Given the description of an element on the screen output the (x, y) to click on. 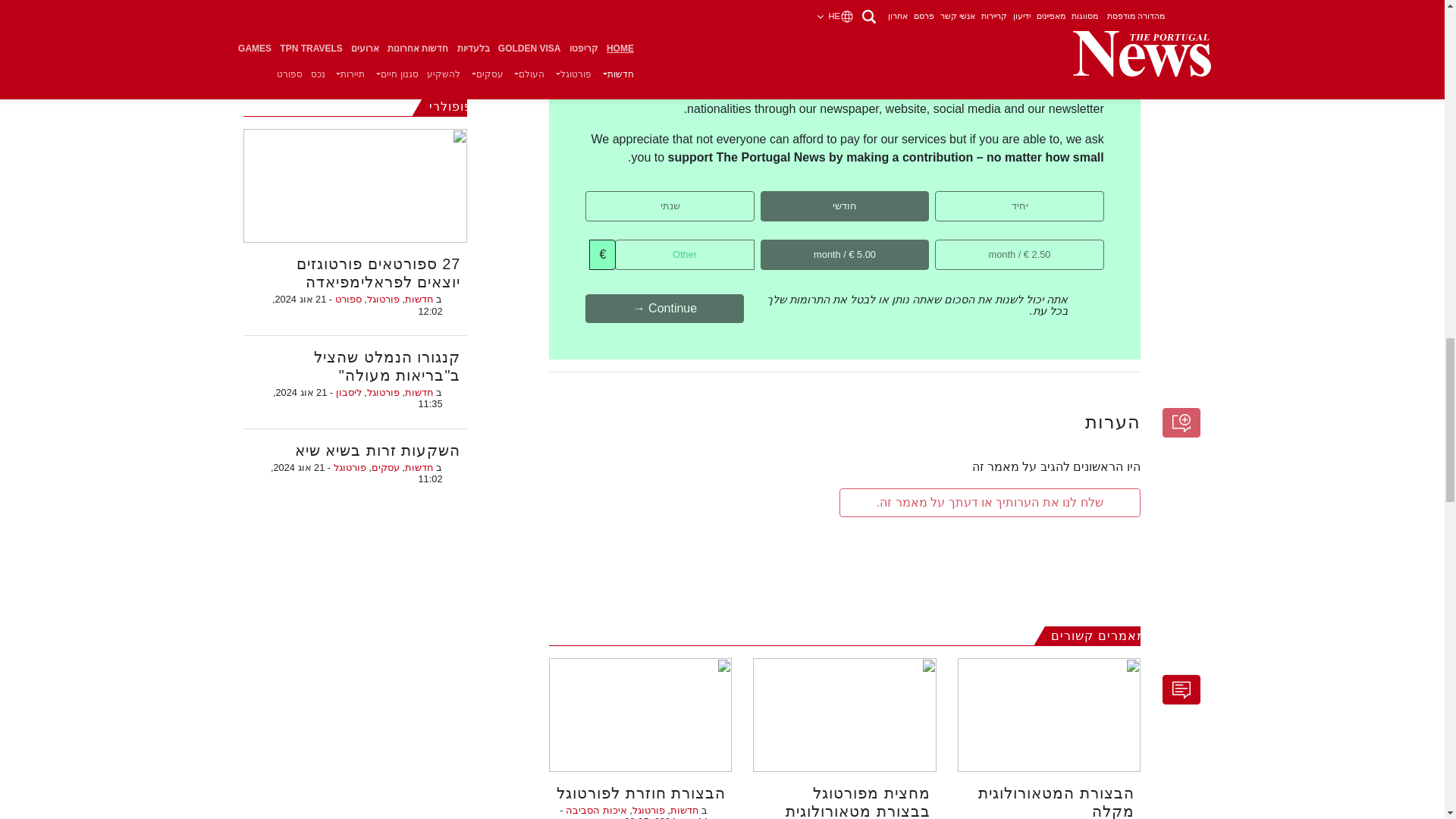
single (1098, 195)
5 (923, 244)
2.5 (1098, 244)
P-18662245734186221MGVD6SI (749, 195)
P-6T2758016F920900CMGGQYMQ (923, 195)
